Given the description of an element on the screen output the (x, y) to click on. 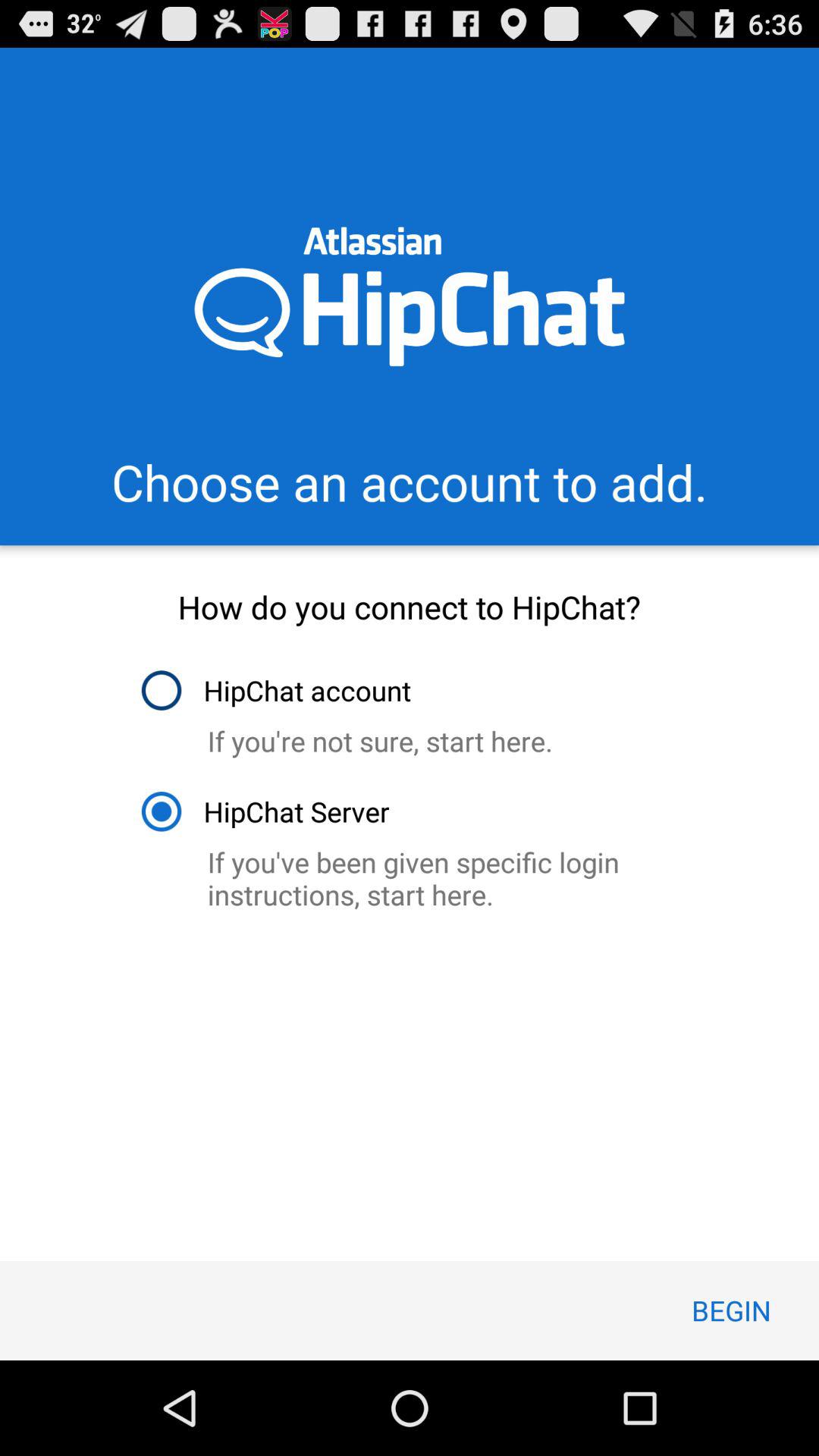
flip until the begin icon (731, 1310)
